Given the description of an element on the screen output the (x, y) to click on. 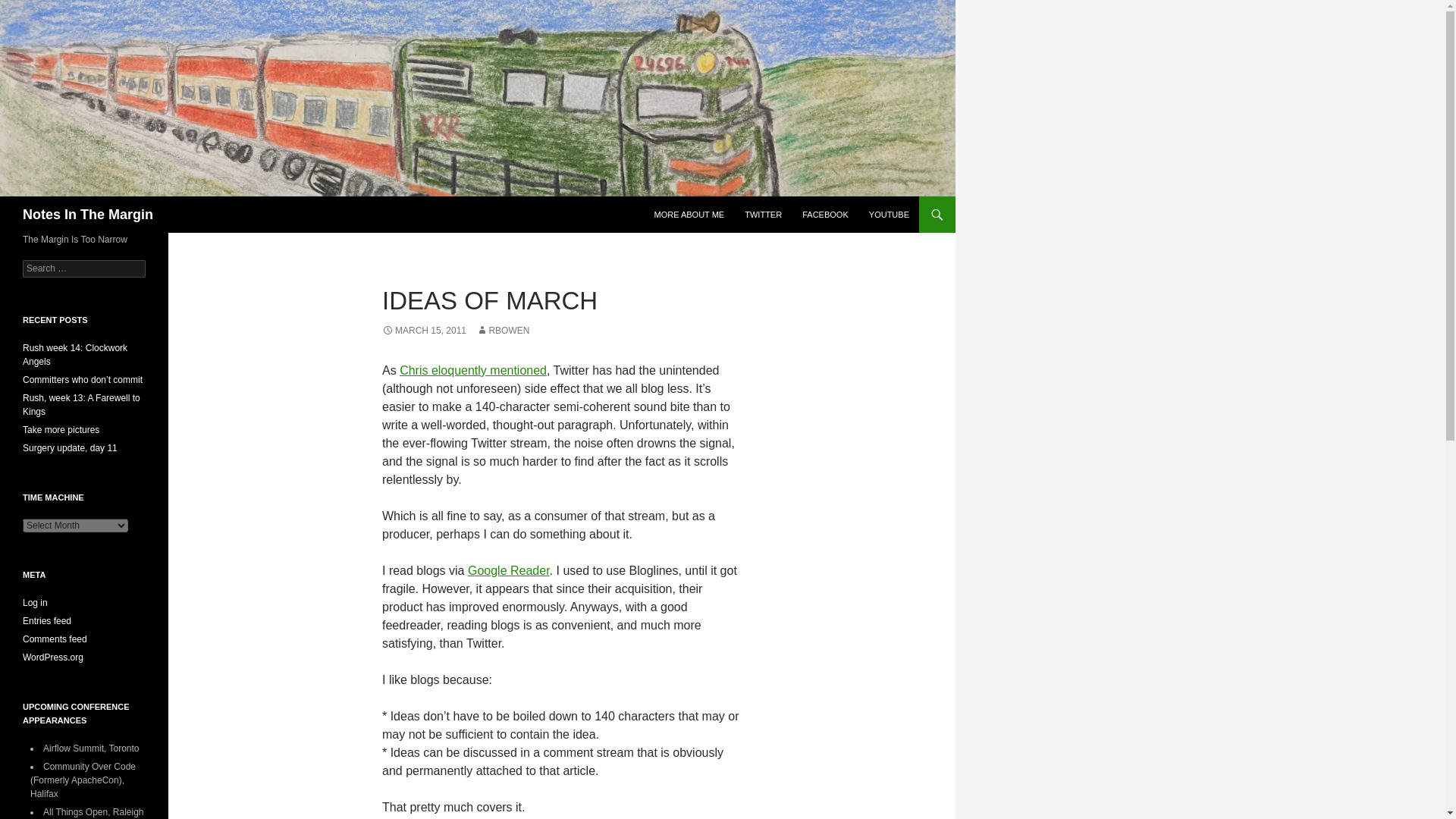
Rush, week 13: A Farewell to Kings (81, 404)
TWITTER (762, 214)
WordPress.org (52, 656)
Rush week 14: Clockwork Angels (75, 354)
Comments feed (55, 638)
Surgery update, day 11 (70, 448)
Entries feed (47, 620)
Chris eloquently mentioned (472, 369)
RBOWEN (502, 330)
